Given the description of an element on the screen output the (x, y) to click on. 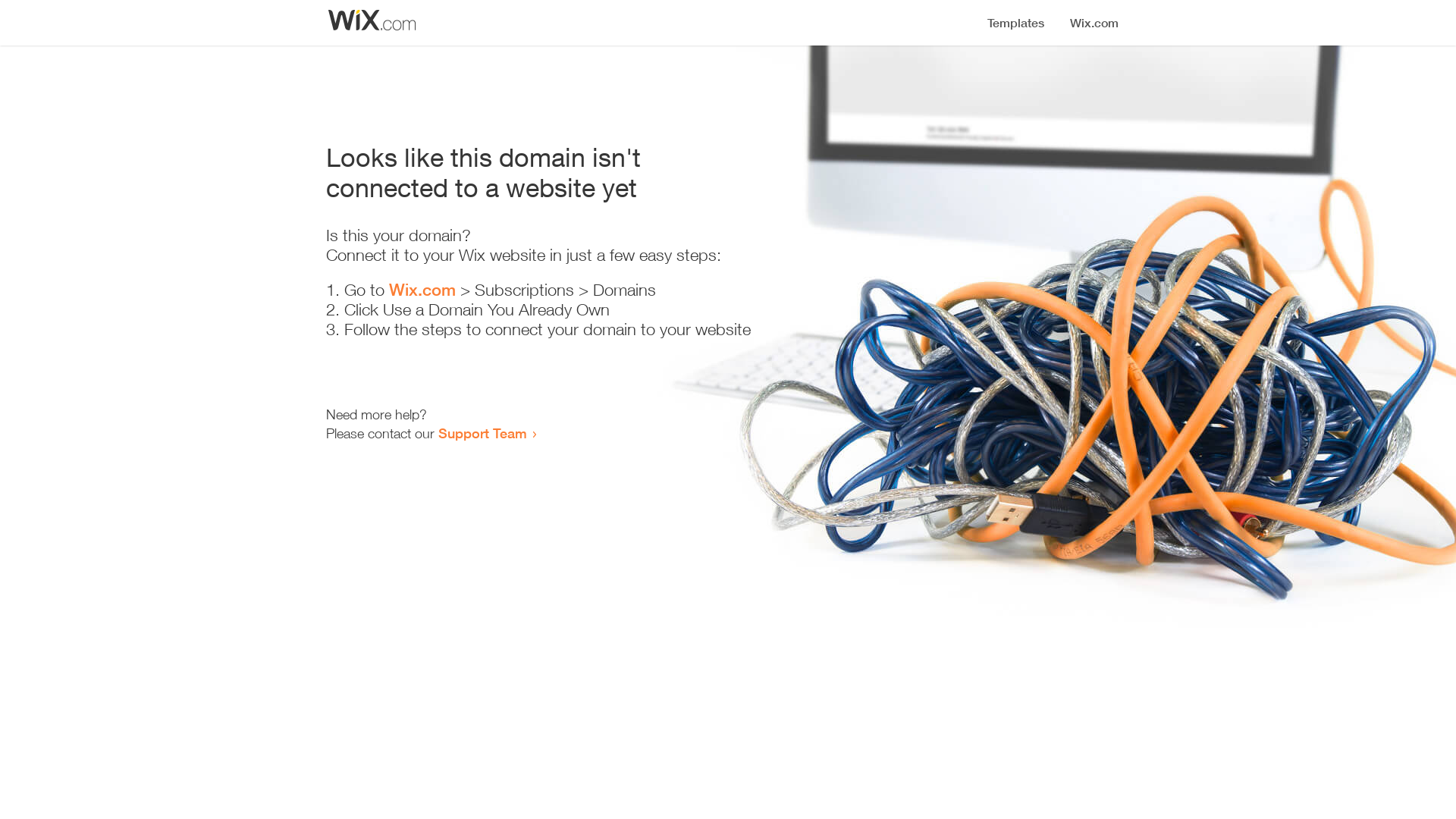
Support Team Element type: text (482, 432)
Wix.com Element type: text (422, 289)
